Given the description of an element on the screen output the (x, y) to click on. 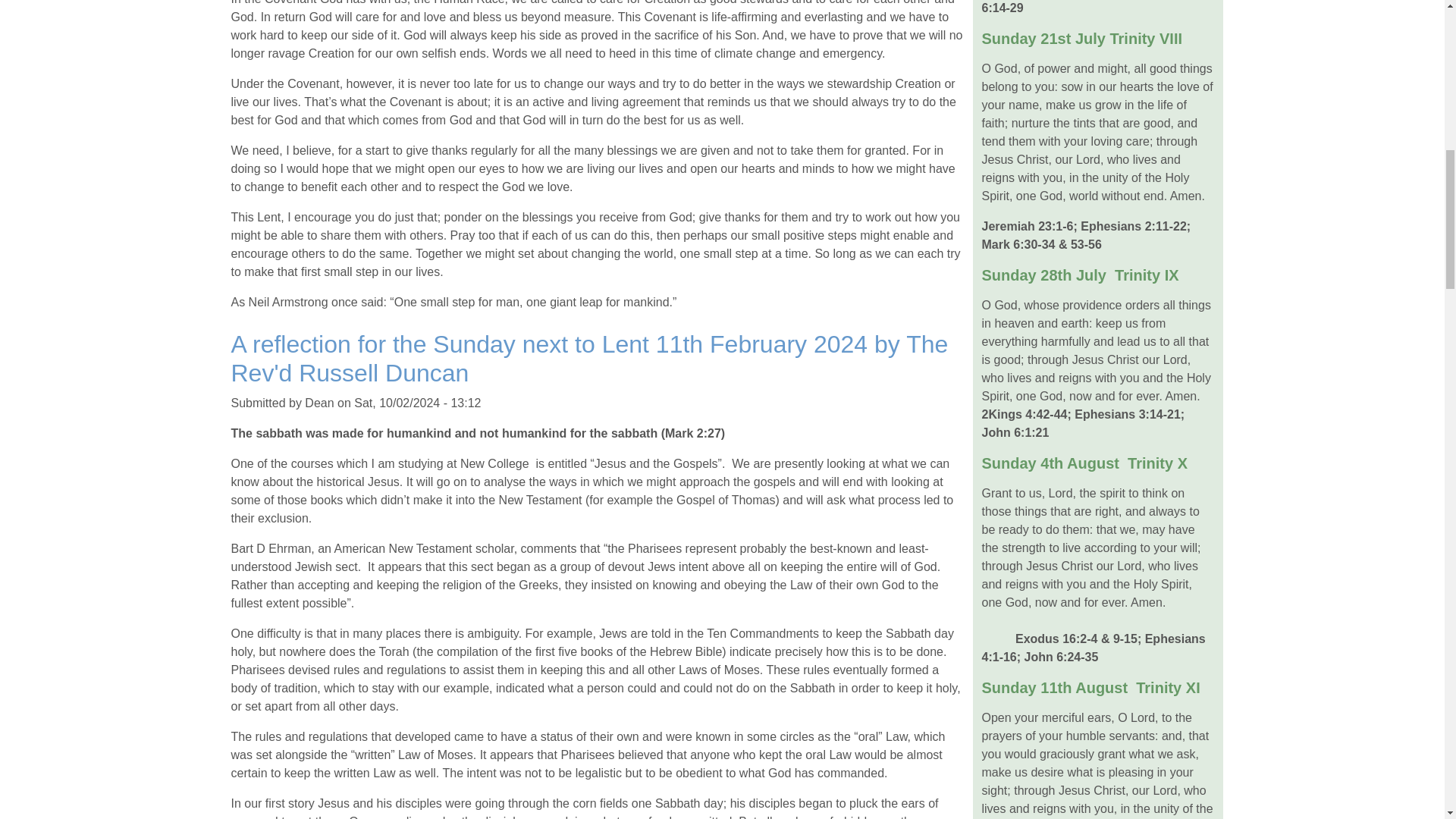
Saturday, February 10, 2024 - 13:12 (416, 402)
